Given the description of an element on the screen output the (x, y) to click on. 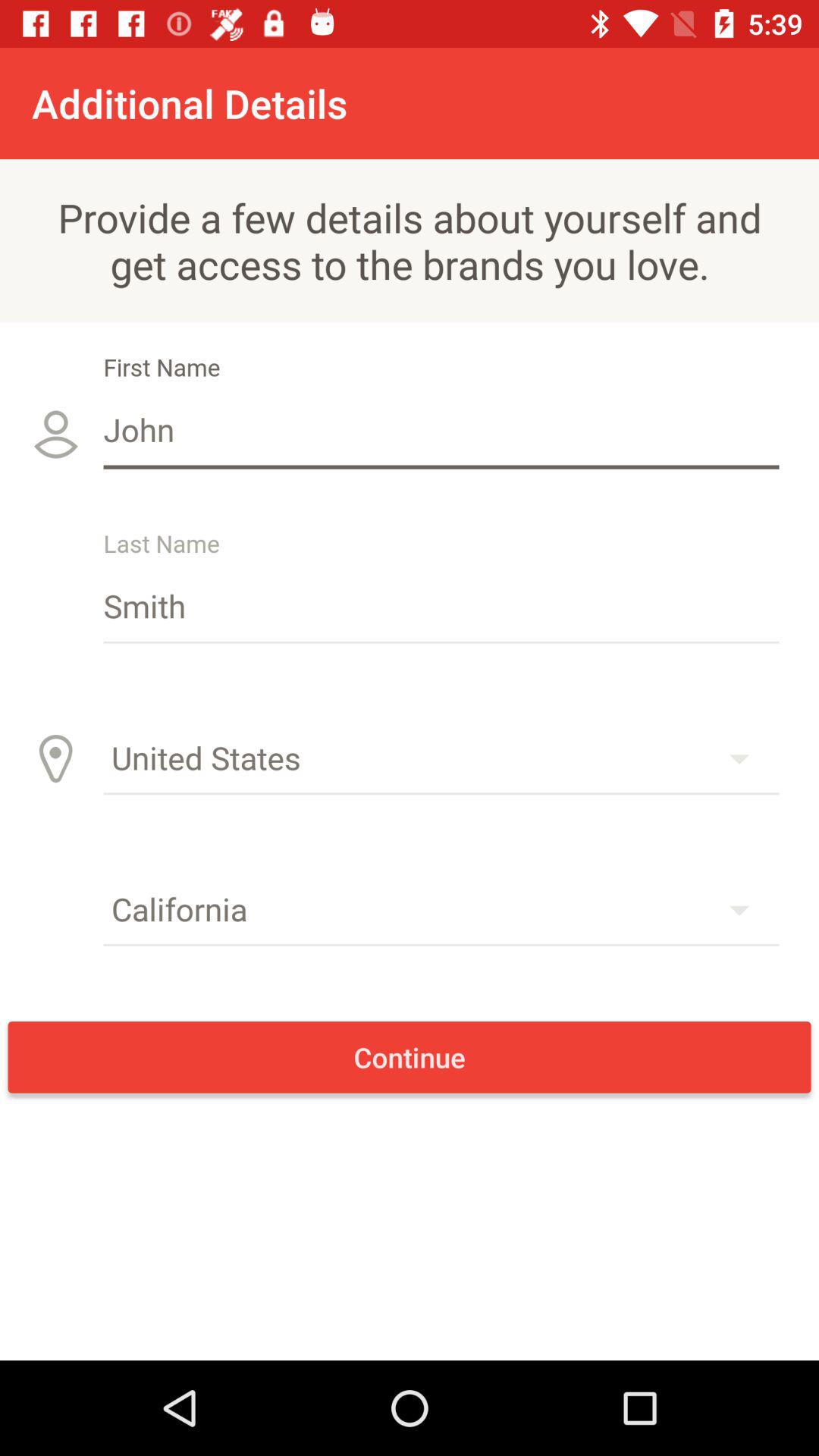
click john (441, 428)
